Given the description of an element on the screen output the (x, y) to click on. 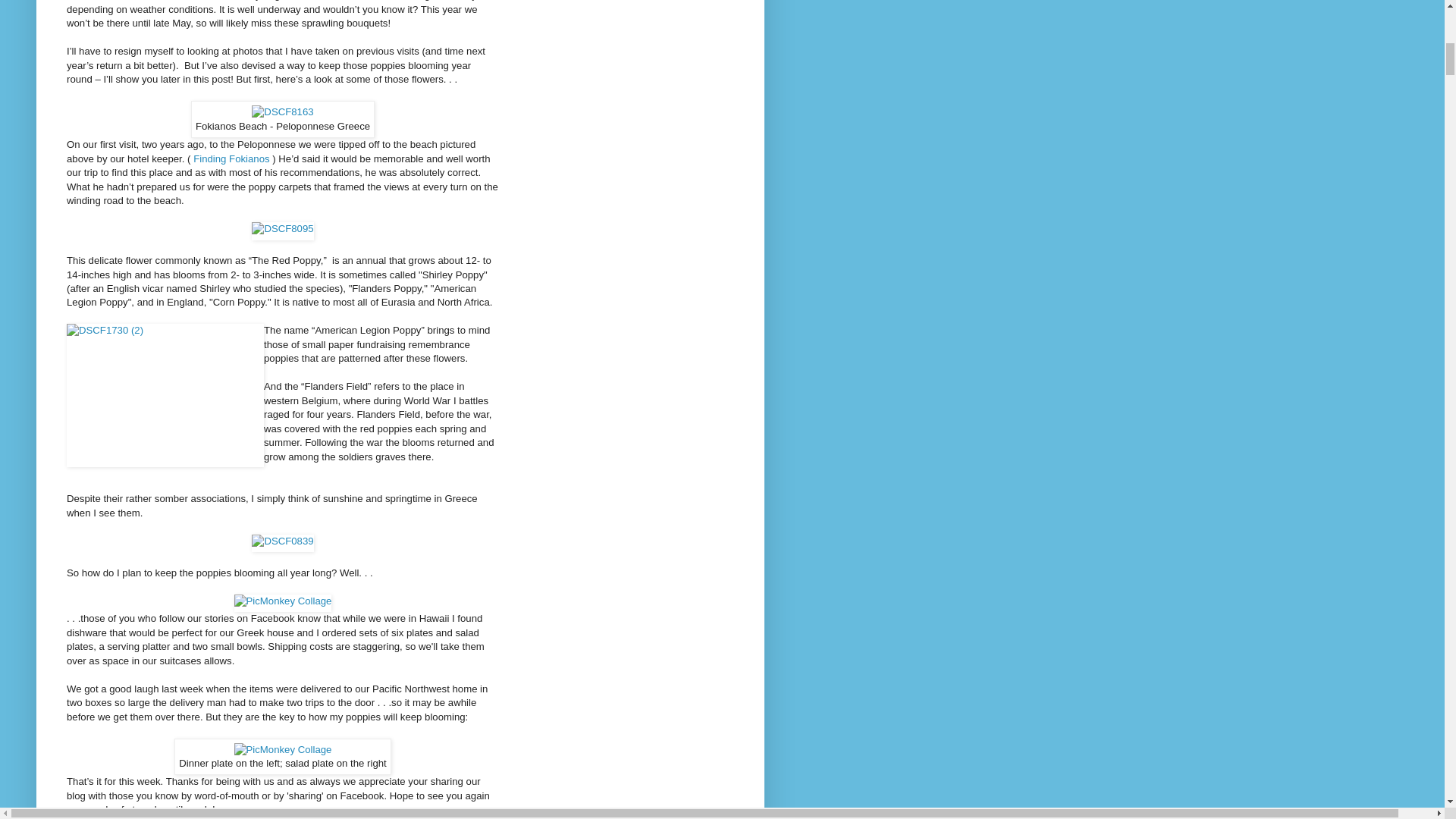
DSCF8095 (282, 230)
Finding Fokianos (231, 158)
PicMonkey Collage (282, 602)
DSCF0839 (282, 543)
PicMonkey Collage (282, 749)
DSCF8163 (282, 111)
